Given the description of an element on the screen output the (x, y) to click on. 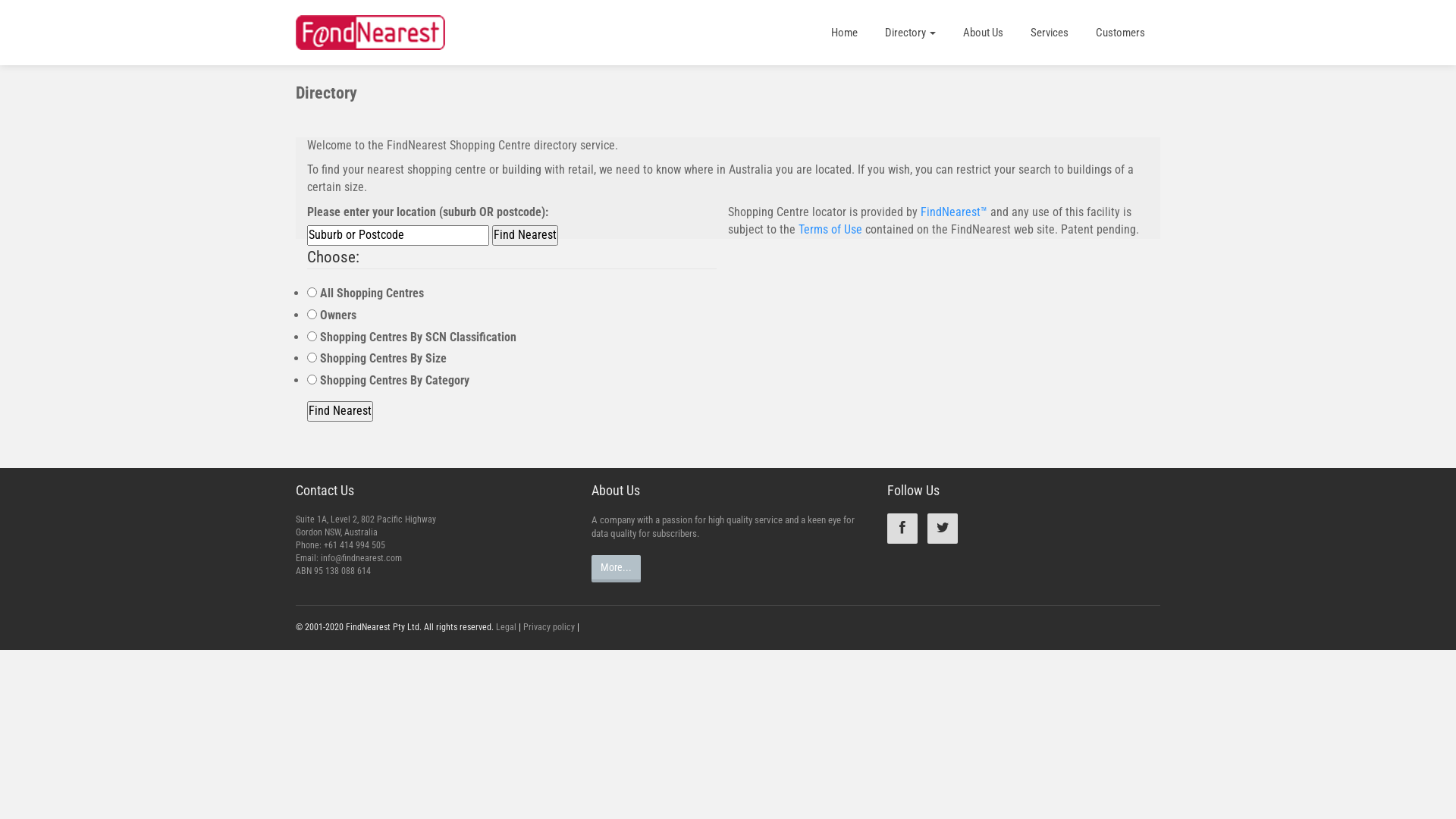
info@findnearest.com Element type: text (360, 557)
Privacy policy Element type: text (548, 626)
Customers Element type: text (1120, 32)
Legal Element type: text (505, 626)
About Us Element type: text (982, 32)
Home Element type: text (844, 32)
Directory Element type: text (909, 32)
Services Element type: text (1049, 32)
Find Nearest Element type: text (340, 411)
Find Nearest Element type: text (525, 235)
More... Element type: text (615, 568)
Terms of Use Element type: text (830, 229)
